Given the description of an element on the screen output the (x, y) to click on. 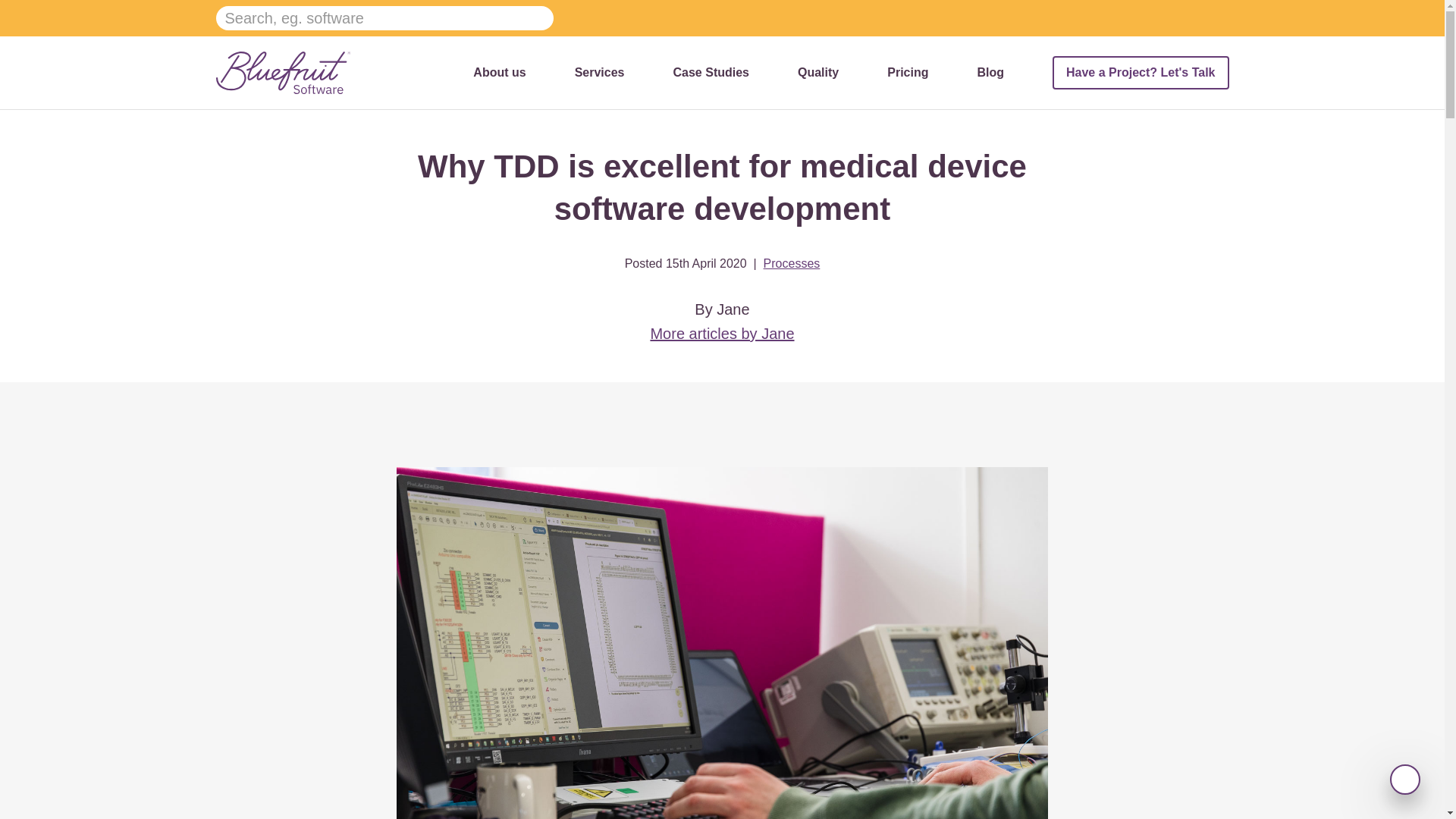
Case Studies (711, 72)
Have a Project? Let's Talk (1140, 72)
Quality (818, 72)
Blog (989, 72)
Services (599, 72)
Pricing (907, 72)
About us (499, 72)
